Given the description of an element on the screen output the (x, y) to click on. 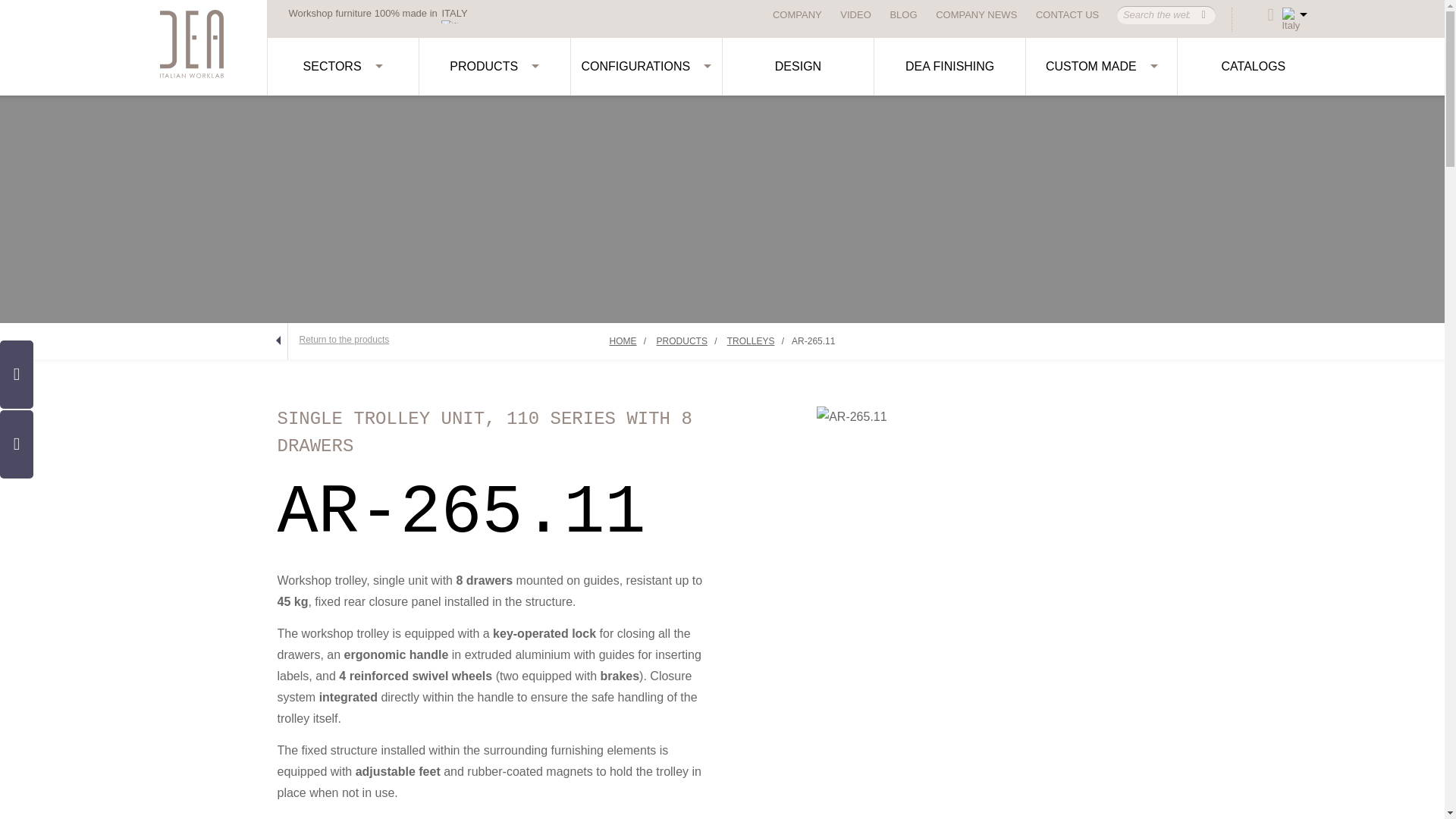
minimum 3 letters (1157, 15)
